Given the description of an element on the screen output the (x, y) to click on. 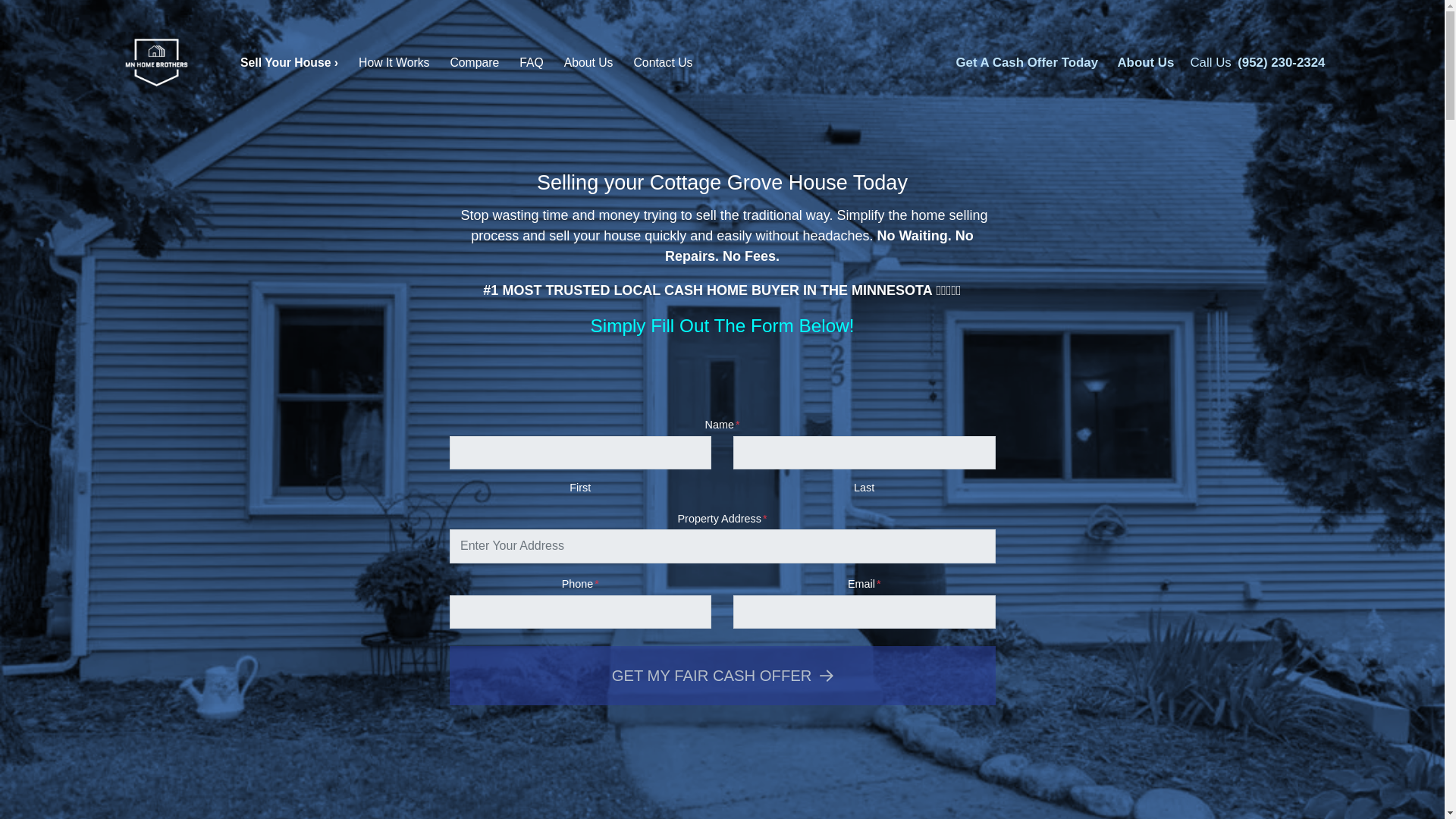
Get A Cash Offer Today (1026, 62)
How It Works (394, 63)
GET MY FAIR CASH OFFER (721, 675)
